Given the description of an element on the screen output the (x, y) to click on. 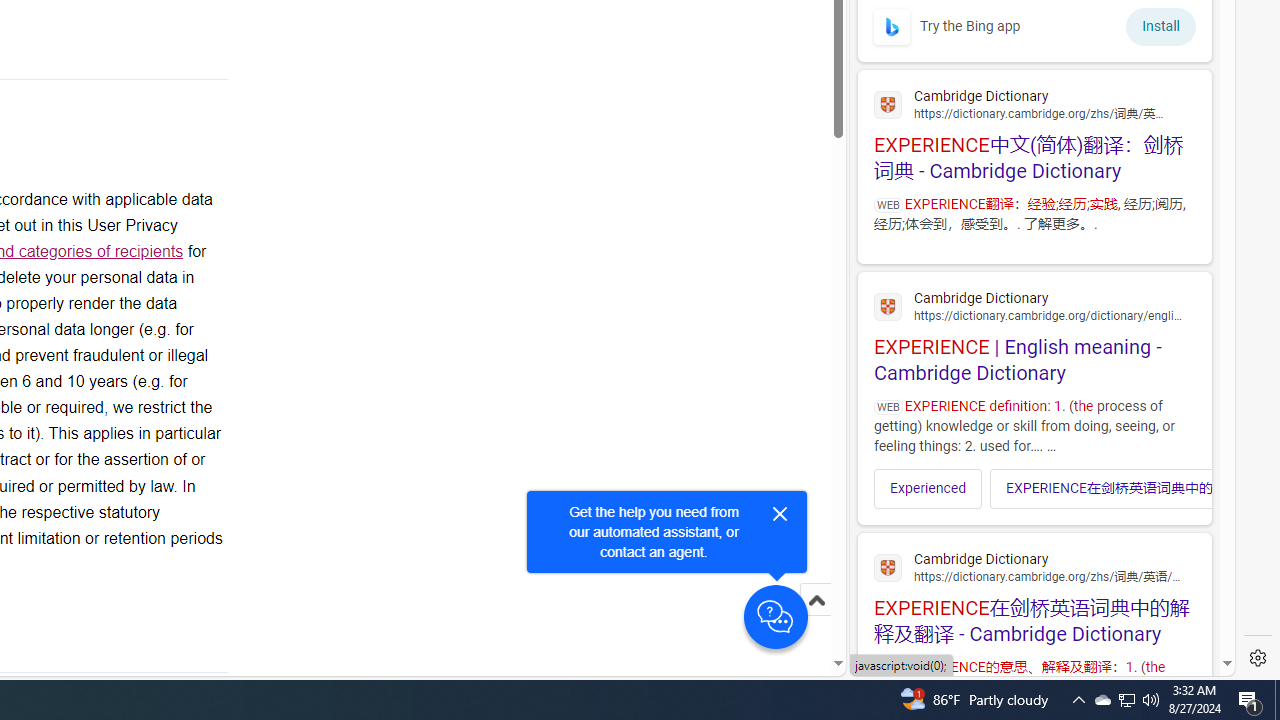
Experienced (927, 488)
Experienced (928, 488)
